Given the description of an element on the screen output the (x, y) to click on. 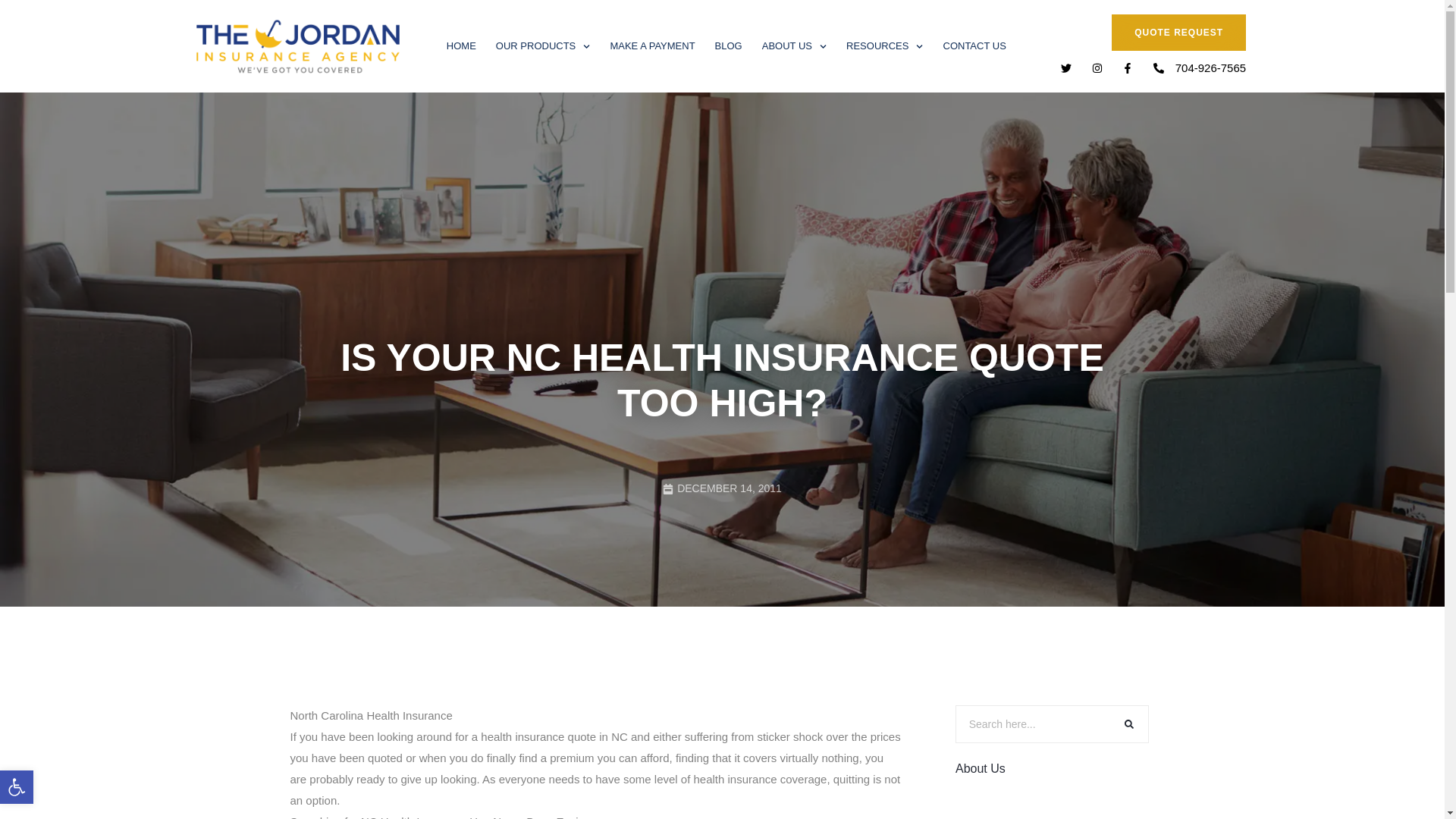
ABOUT US (16, 786)
HOME (794, 46)
OUR PRODUCTS (461, 46)
Accessibility Tools (542, 46)
Accessibility Tools (16, 786)
RESOURCES (16, 787)
MAKE A PAYMENT (884, 46)
BLOG (652, 46)
